Given the description of an element on the screen output the (x, y) to click on. 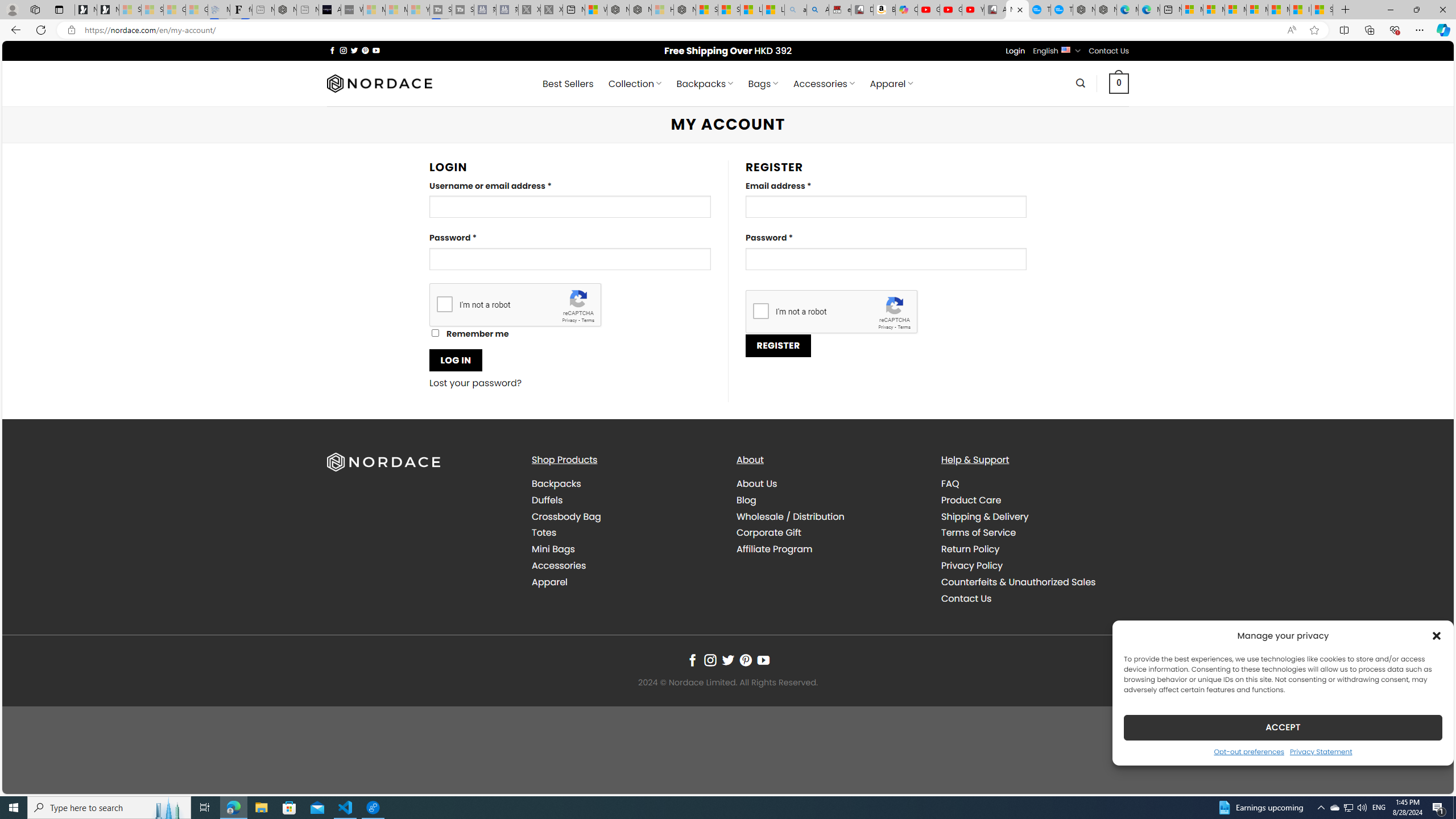
Terms of Service (978, 532)
Product Care (970, 499)
Apparel (549, 581)
Return Policy (1034, 549)
Terms (903, 326)
Privacy Policy (1034, 565)
About Us (756, 483)
Microsoft account | Microsoft Account Privacy Settings (1214, 9)
